Given the description of an element on the screen output the (x, y) to click on. 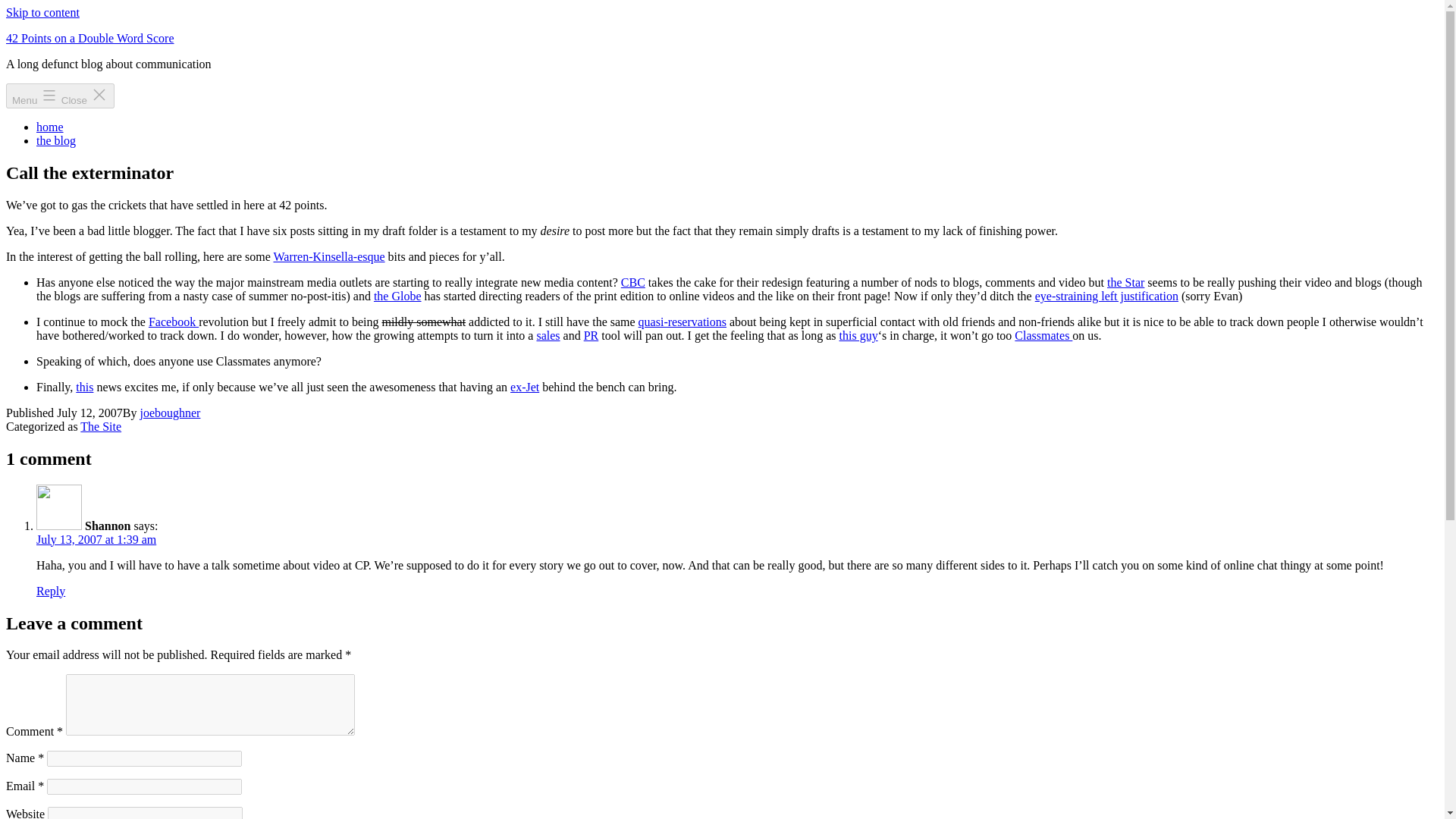
The Site (100, 426)
Menu Close (60, 95)
the Globe (398, 295)
quasi-reservations (682, 321)
Classmates (1042, 335)
the Star (1125, 282)
joeboughner (169, 412)
Reply (50, 590)
this (84, 386)
this guy (858, 335)
eye-straining left justification (1106, 295)
Facebook (173, 321)
home (50, 126)
Warren-Kinsella-esque (328, 256)
42 Points on a Double Word Score (89, 38)
